Given the description of an element on the screen output the (x, y) to click on. 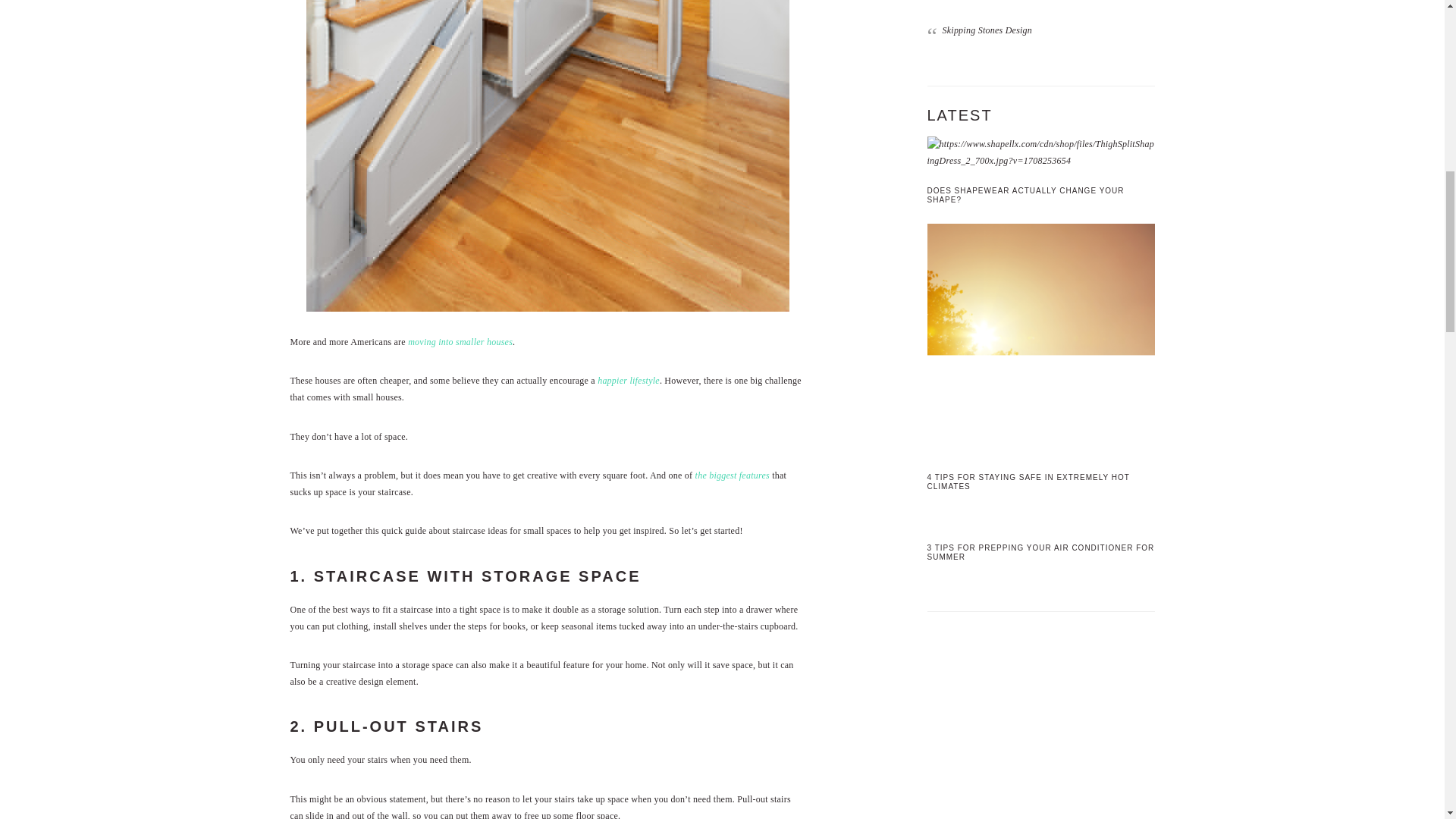
DOES SHAPEWEAR ACTUALLY CHANGE YOUR SHAPE? (1025, 194)
Does Shapewear Actually Change Your Shape? (1040, 152)
4 TIPS FOR STAYING SAFE IN EXTREMELY HOT CLIMATES (1027, 481)
4 Tips For Staying Safe in Extremely Hot Climates (1040, 339)
3 TIPS FOR PREPPING YOUR AIR CONDITIONER FOR SUMMER (1040, 552)
the biggest features (732, 475)
moving into smaller houses (459, 341)
happier lifestyle (627, 380)
3 Tips For Prepping Your Air Conditioner For Summer (1040, 518)
Skipping Stones Design (987, 30)
